Given the description of an element on the screen output the (x, y) to click on. 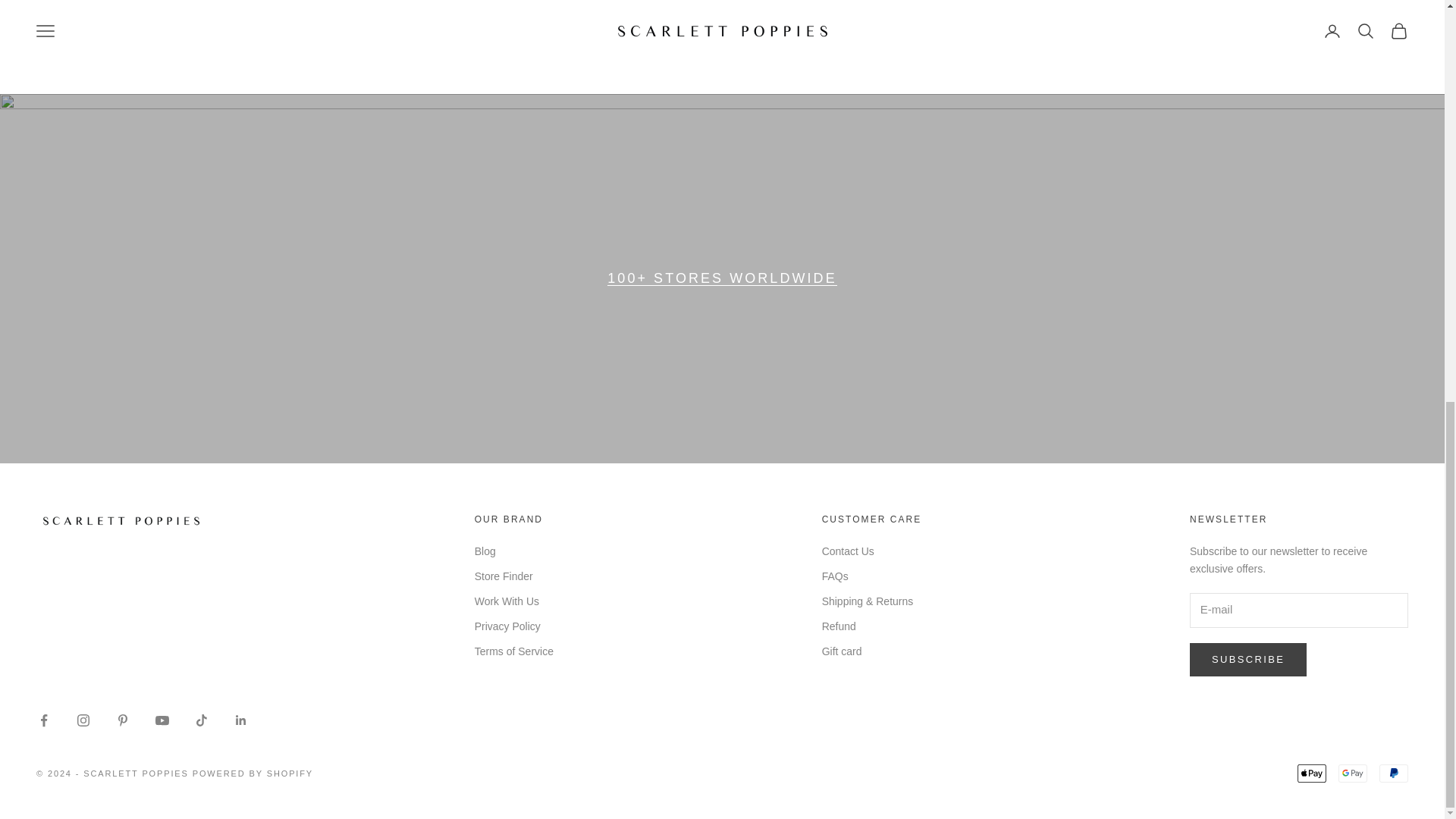
Terms of Service (513, 651)
Privacy Policy (507, 625)
Read more about our policy (584, 36)
FAQs (835, 576)
SUBSCRIBE (1247, 659)
We're here to assist! (858, 36)
Refund Policy (584, 36)
Work With Us (506, 601)
Gift card (841, 651)
Blog (485, 551)
